Given the description of an element on the screen output the (x, y) to click on. 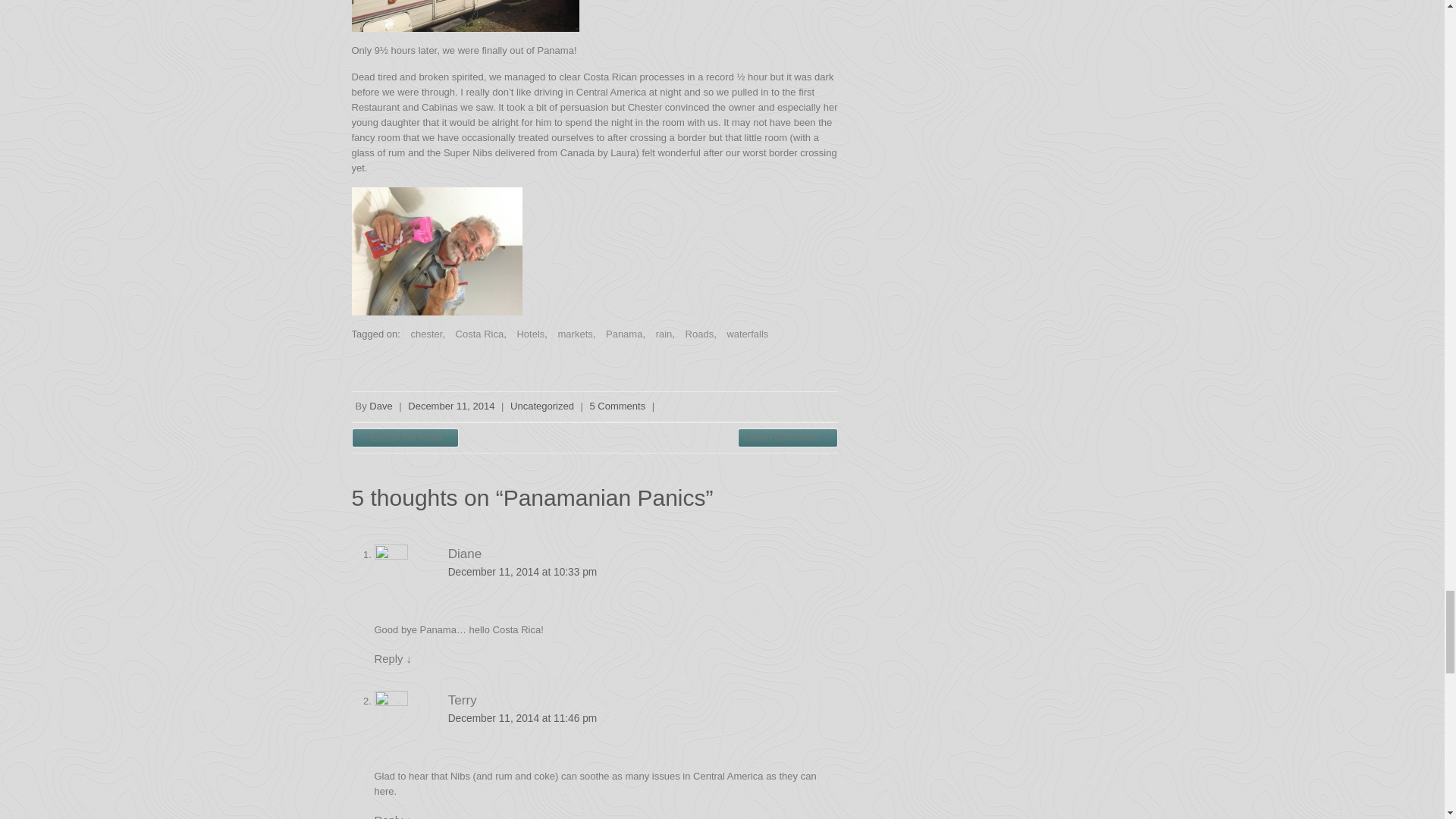
rain (659, 333)
10:13 pm (451, 405)
markets (571, 333)
chester (422, 333)
Panama (620, 333)
Hotels (526, 333)
Costa Rica (475, 333)
